Given the description of an element on the screen output the (x, y) to click on. 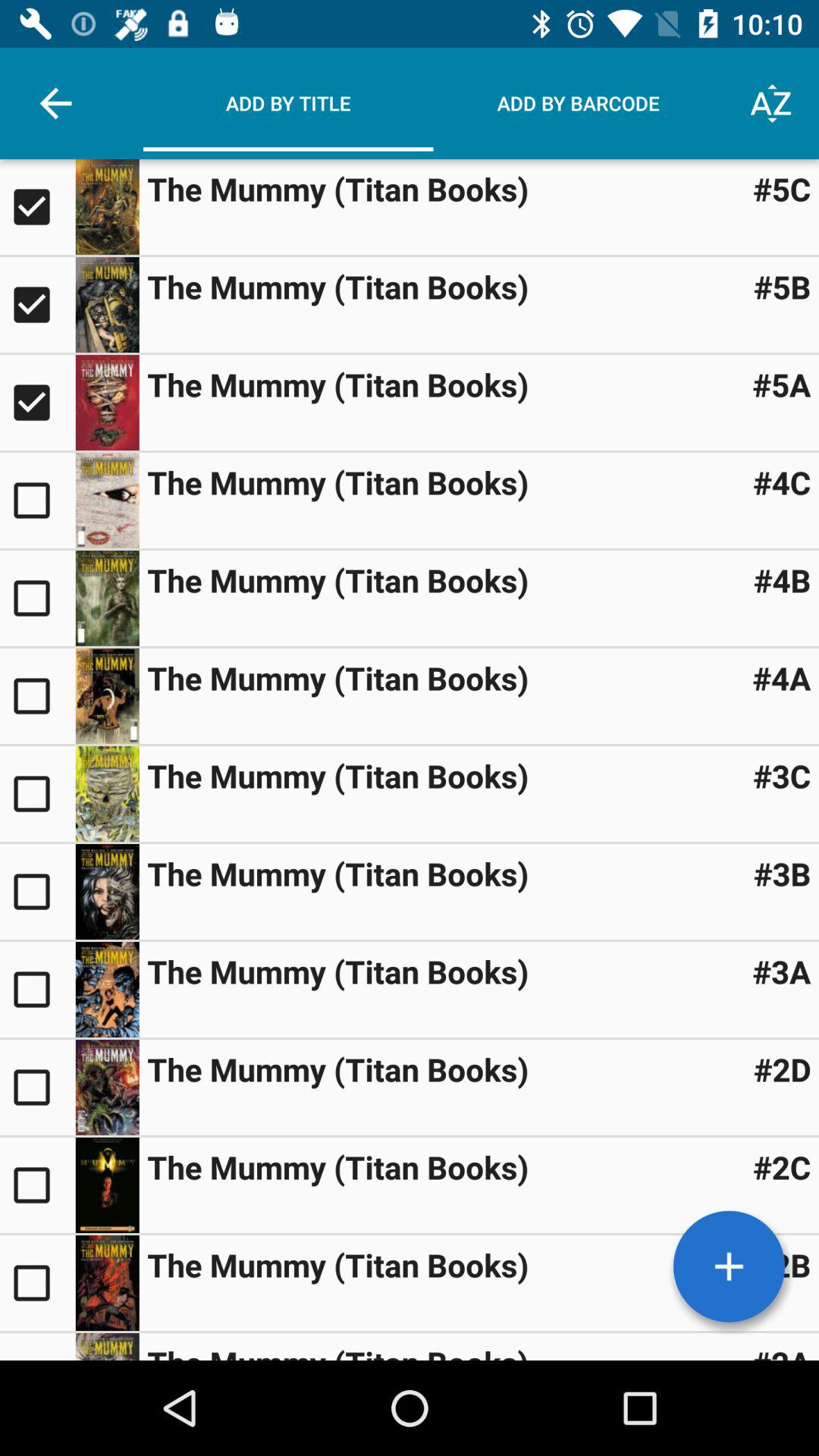
go to book information (107, 402)
